Given the description of an element on the screen output the (x, y) to click on. 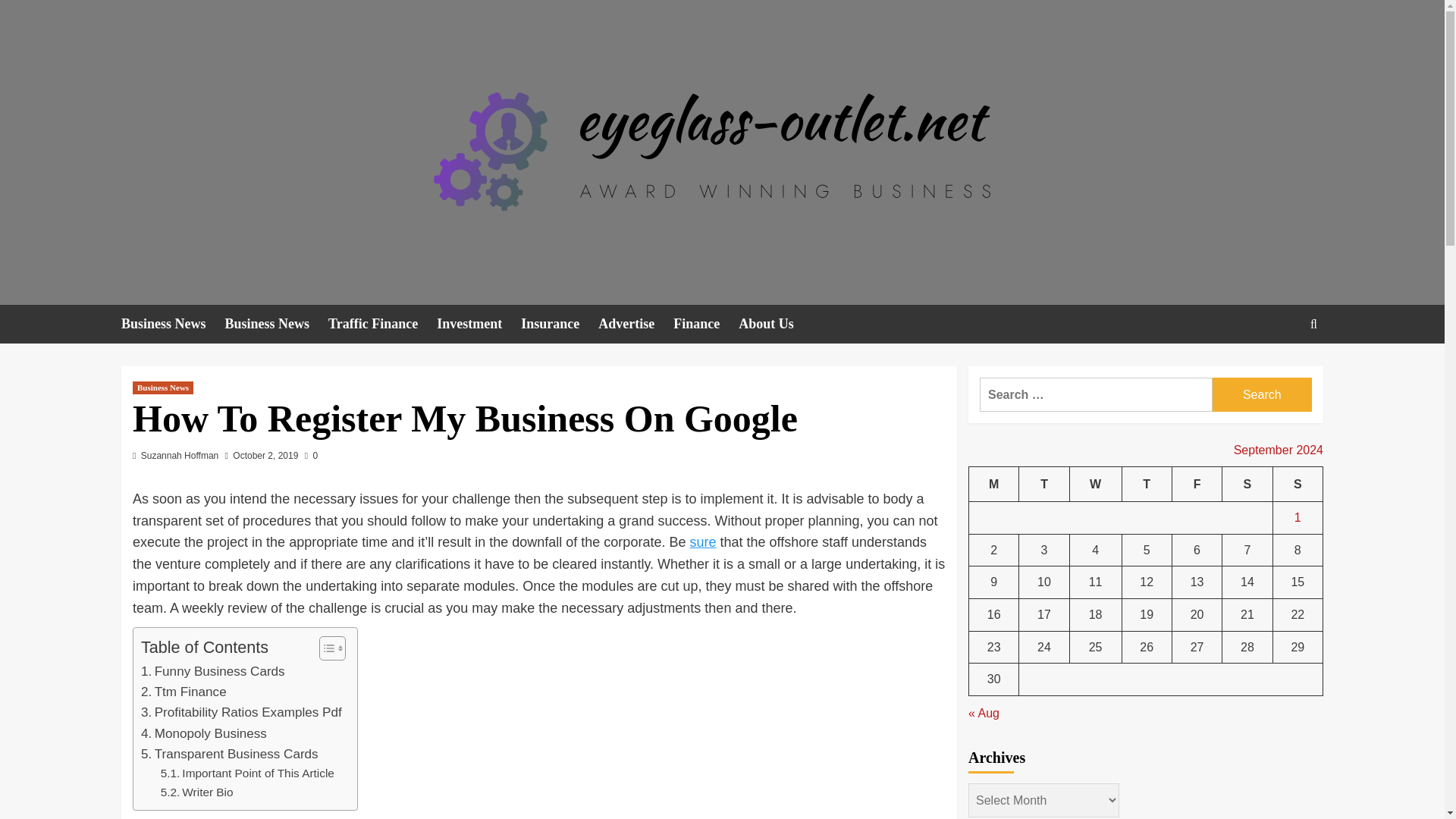
Business News (172, 323)
Traffic Finance (382, 323)
Transparent Business Cards (229, 753)
sure (702, 541)
Suzannah Hoffman (180, 455)
Transparent Business Cards (229, 753)
Funny Business Cards (213, 670)
Search (1278, 369)
Advertise (635, 323)
Investment (478, 323)
